Given the description of an element on the screen output the (x, y) to click on. 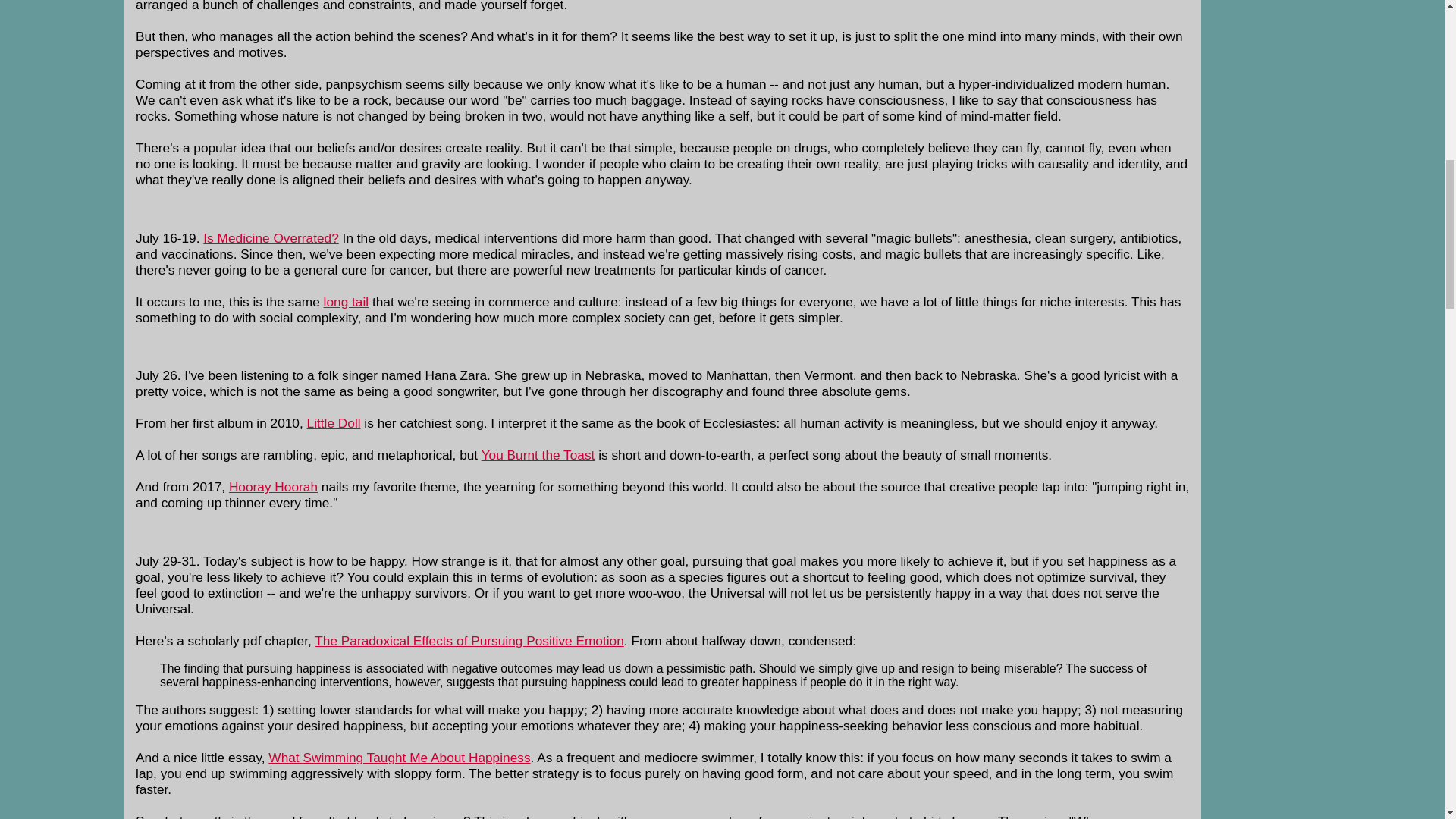
long tail (346, 301)
Hooray Hoorah (272, 486)
Little Doll (334, 422)
What Swimming Taught Me About Happiness (398, 757)
Is Medicine Overrated? (271, 237)
The Paradoxical Effects of Pursuing Positive Emotion (469, 640)
You Burnt the Toast (538, 454)
